Given the description of an element on the screen output the (x, y) to click on. 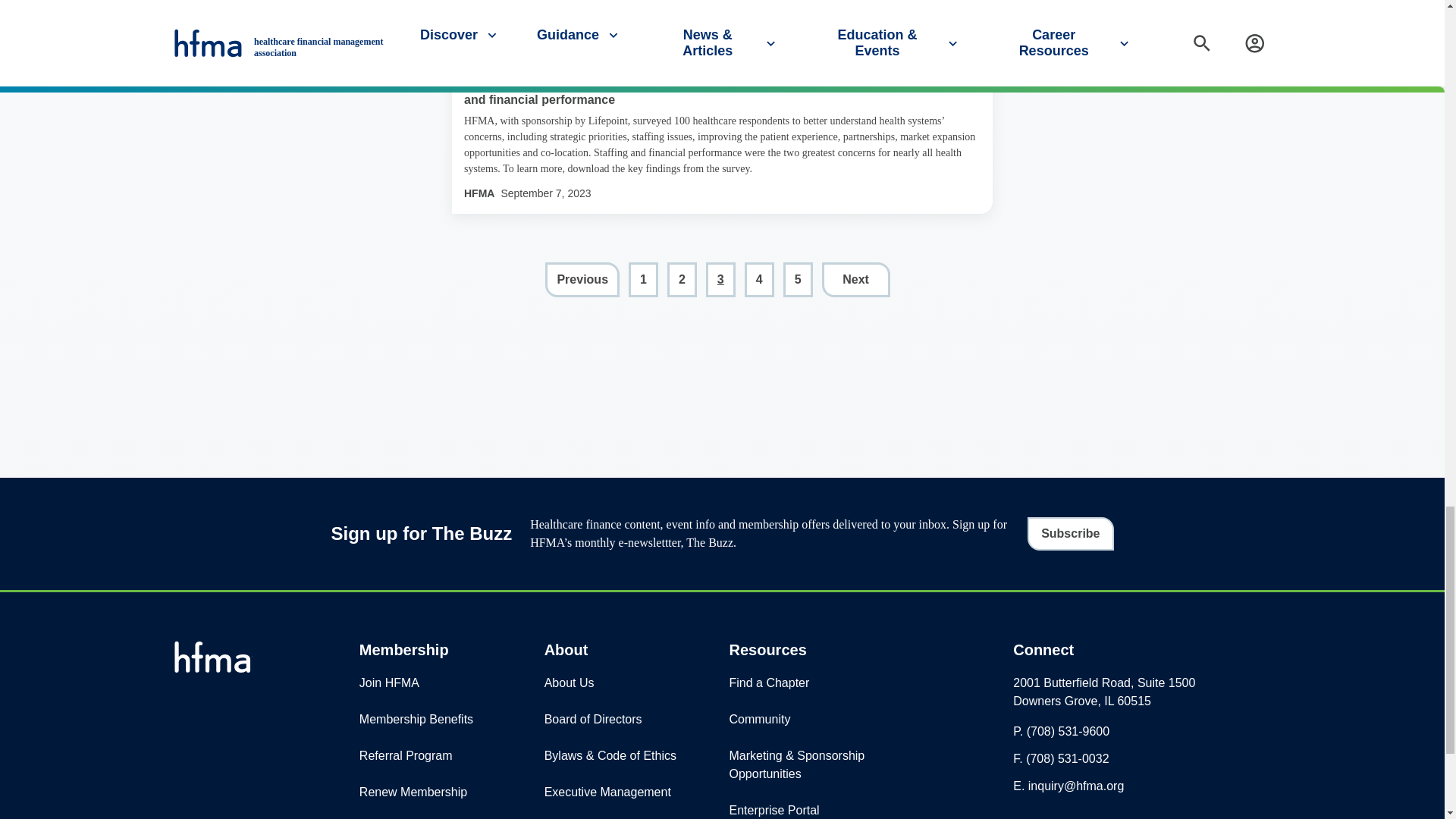
3rd party ad content (721, 386)
